Given the description of an element on the screen output the (x, y) to click on. 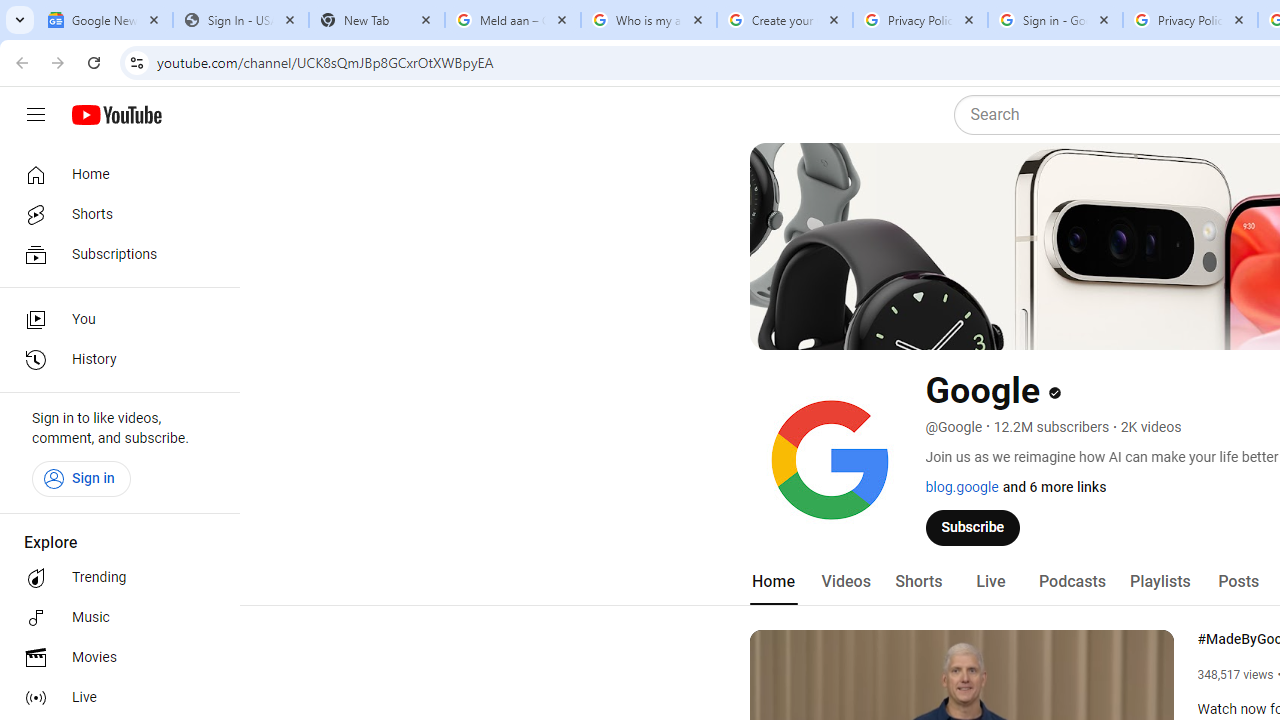
Sign in - Google Accounts (1055, 20)
Live (990, 581)
Who is my administrator? - Google Account Help (648, 20)
blog.google (961, 487)
